Given the description of an element on the screen output the (x, y) to click on. 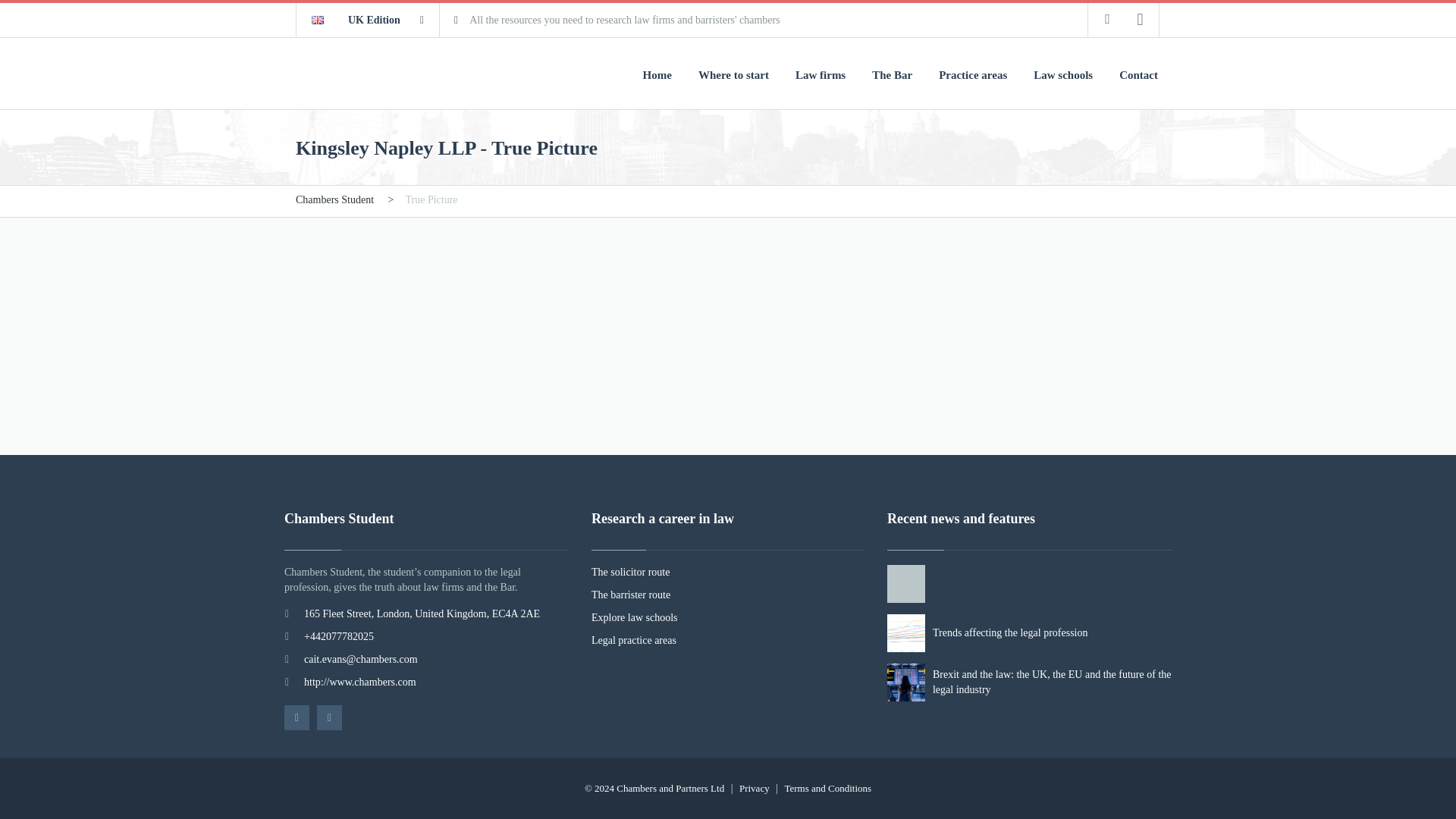
Law schools (1063, 75)
Law firms (819, 75)
Where to start (733, 75)
UK Edition (368, 19)
Where to start (733, 75)
chambers associate facebook page (1106, 18)
Law firms (819, 75)
chambers associate twitter page (1139, 18)
Practice areas (973, 75)
Home (657, 75)
The Bar (892, 75)
Home (657, 75)
